Given the description of an element on the screen output the (x, y) to click on. 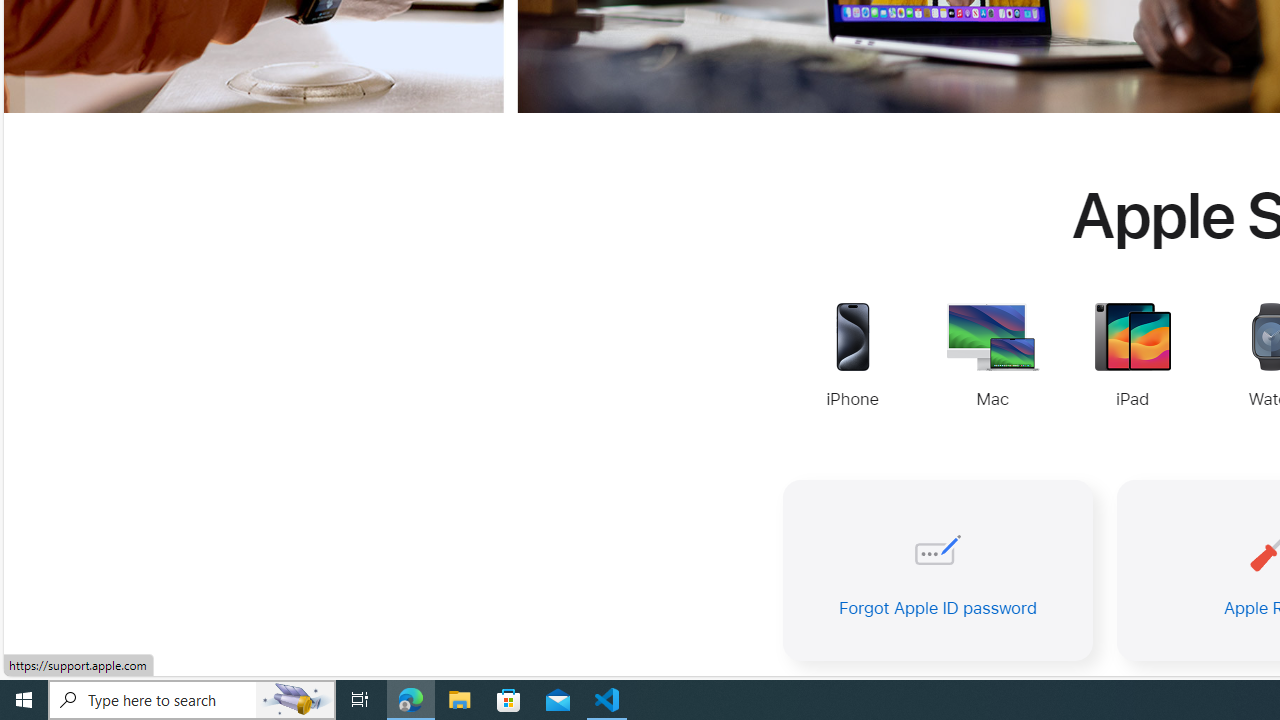
Forgot Apple ID password (938, 570)
Mac Support (992, 358)
iPad Support (1131, 358)
iPhone Support (852, 358)
